Given the description of an element on the screen output the (x, y) to click on. 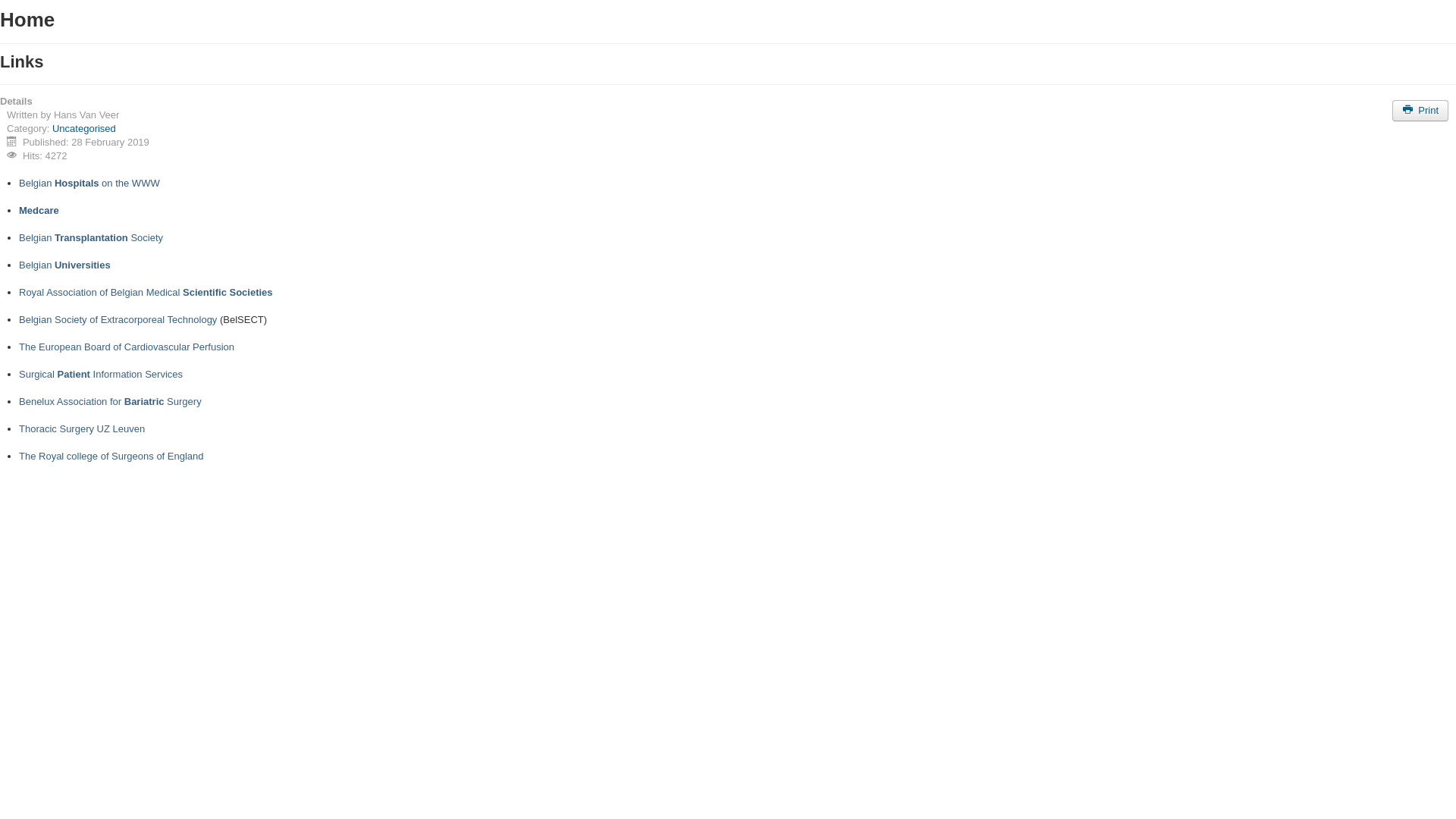
The European Board of Cardiovascular Perfusion Element type: text (126, 346)
Print Element type: text (1420, 110)
Belgian Hospitals on the WWW Element type: text (89, 182)
Belgian Transplantation Society Element type: text (90, 237)
Medcare Element type: text (38, 210)
Thoracic Surgery UZ Leuven Element type: text (81, 428)
Belgian Universities Element type: text (64, 264)
Belgian Society of Extracorporeal Technology Element type: text (117, 319)
Royal Association of Belgian Medical Scientific Societies Element type: text (145, 292)
Surgical Patient Information Services Element type: text (100, 373)
The Royal college of Surgeons of England Element type: text (110, 455)
Benelux Association for Bariatric Surgery Element type: text (109, 401)
Uncategorised Element type: text (84, 128)
